Given the description of an element on the screen output the (x, y) to click on. 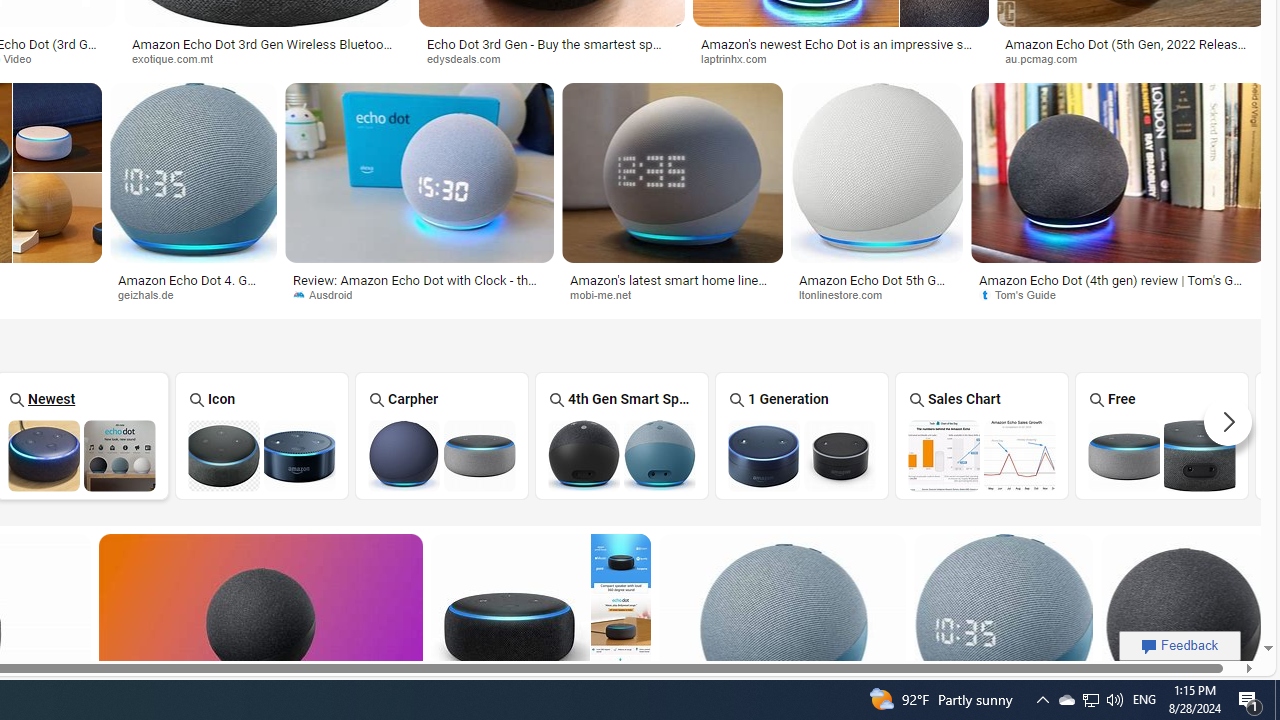
Amazon Echo Dot Sales Chart Sales Chart (981, 435)
au.pcmag.com (1047, 57)
Amazon Echo Dot Icon Icon (262, 435)
Image result for Newest Amazon Echo Dot (1182, 623)
edysdeals.com (470, 57)
Ausdroid (330, 294)
